Given the description of an element on the screen output the (x, y) to click on. 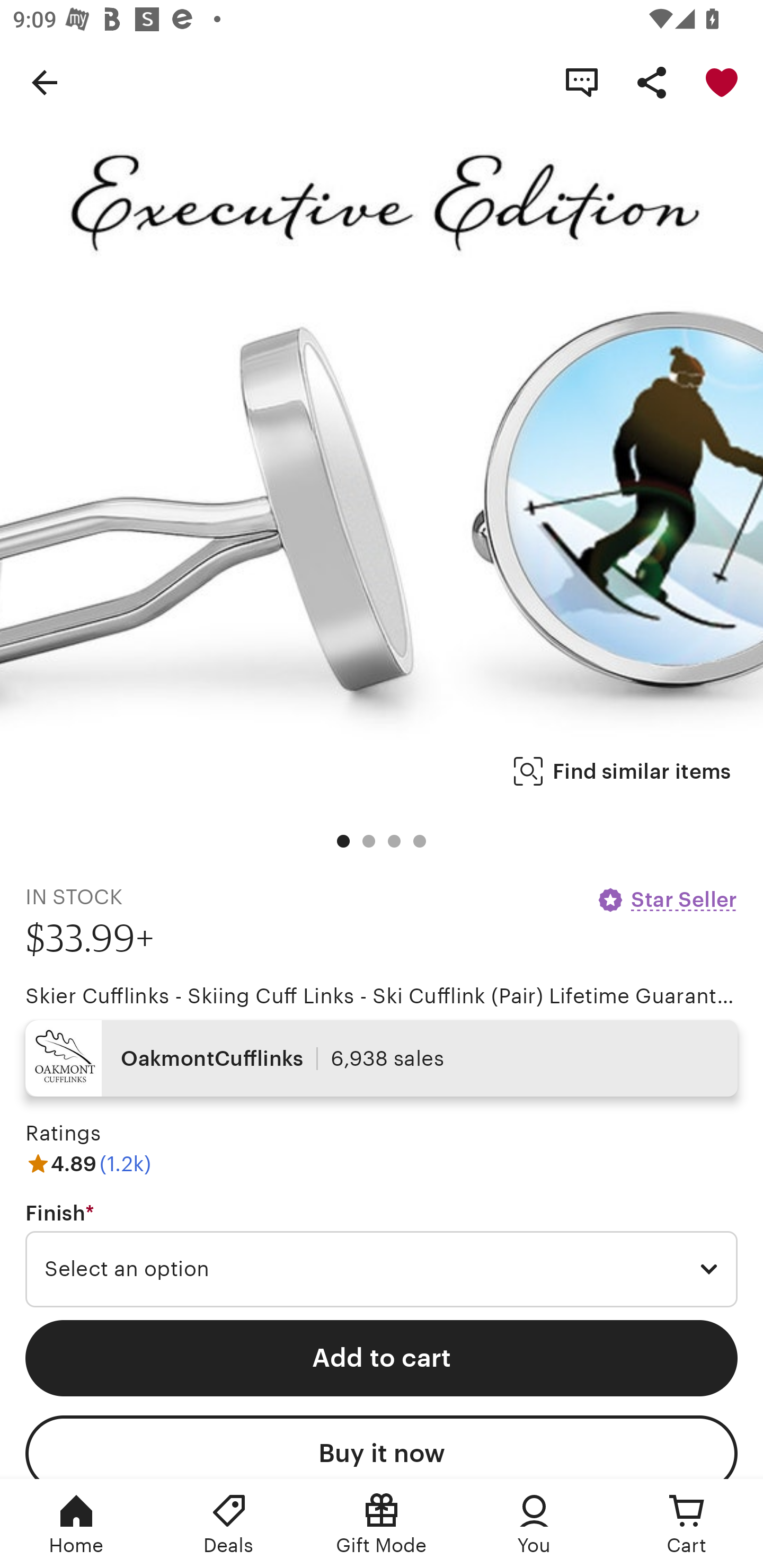
Navigate up (44, 81)
Contact shop (581, 81)
Share (651, 81)
Find similar items (622, 771)
Star Seller (666, 899)
OakmontCufflinks 6,938 sales (381, 1058)
Ratings (62, 1133)
4.89 (1.2k) (88, 1163)
Finish * Required Select an option (381, 1254)
Select an option (381, 1268)
Add to cart (381, 1358)
Buy it now (381, 1446)
Deals (228, 1523)
Gift Mode (381, 1523)
You (533, 1523)
Cart (686, 1523)
